Given the description of an element on the screen output the (x, y) to click on. 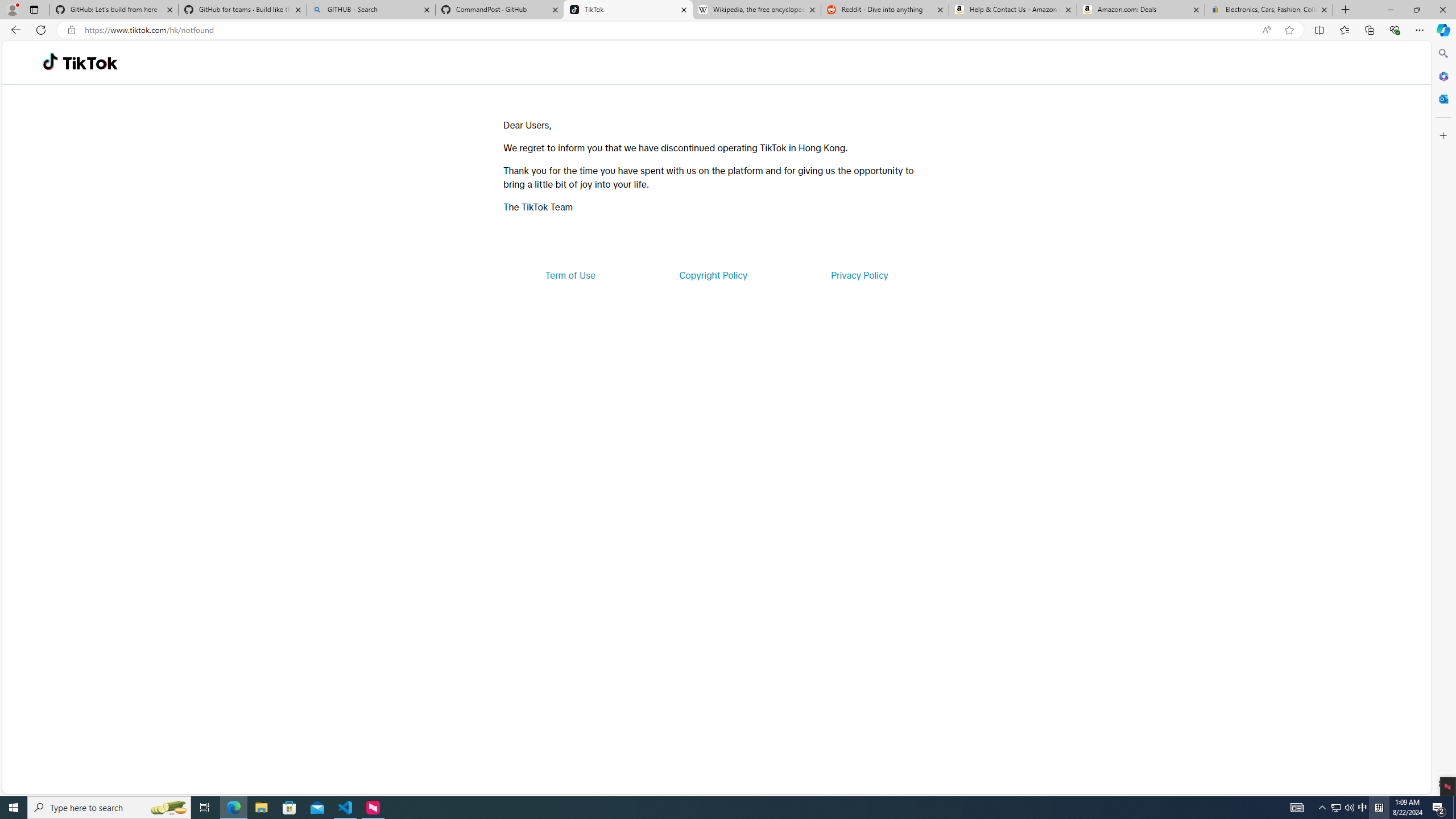
Copyright Policy (712, 274)
GITHUB - Search (370, 9)
Wikipedia, the free encyclopedia (756, 9)
Amazon.com: Deals (1140, 9)
